Given the description of an element on the screen output the (x, y) to click on. 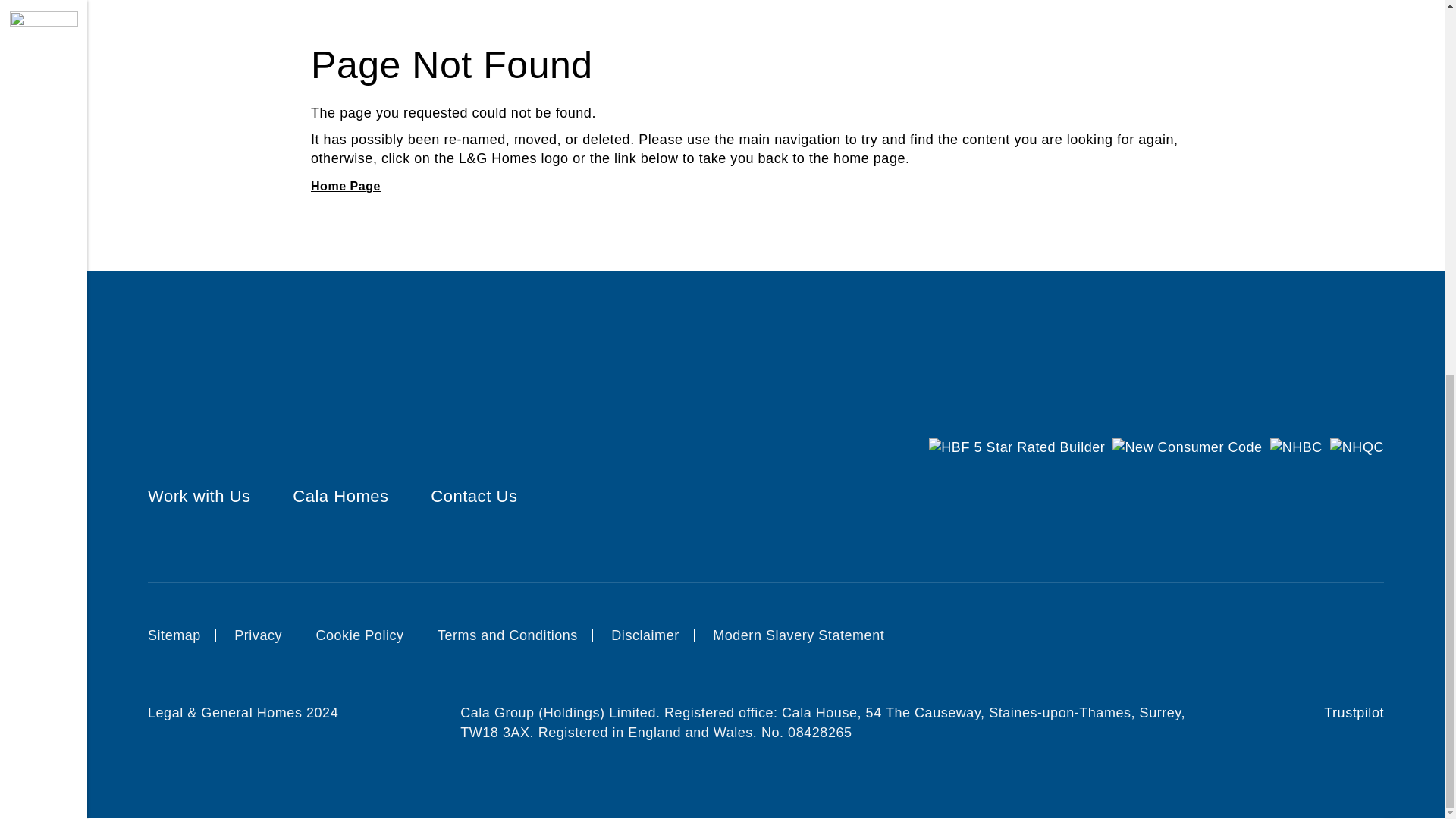
Work with Us (199, 496)
Sitemap (174, 635)
LG Homes (345, 185)
Cala Homes (340, 496)
Terms and Conditions (508, 635)
Contact Us (473, 496)
Privacy (258, 635)
Home Page (345, 185)
Disclaimer (644, 635)
Cookie Policy (359, 635)
